Given the description of an element on the screen output the (x, y) to click on. 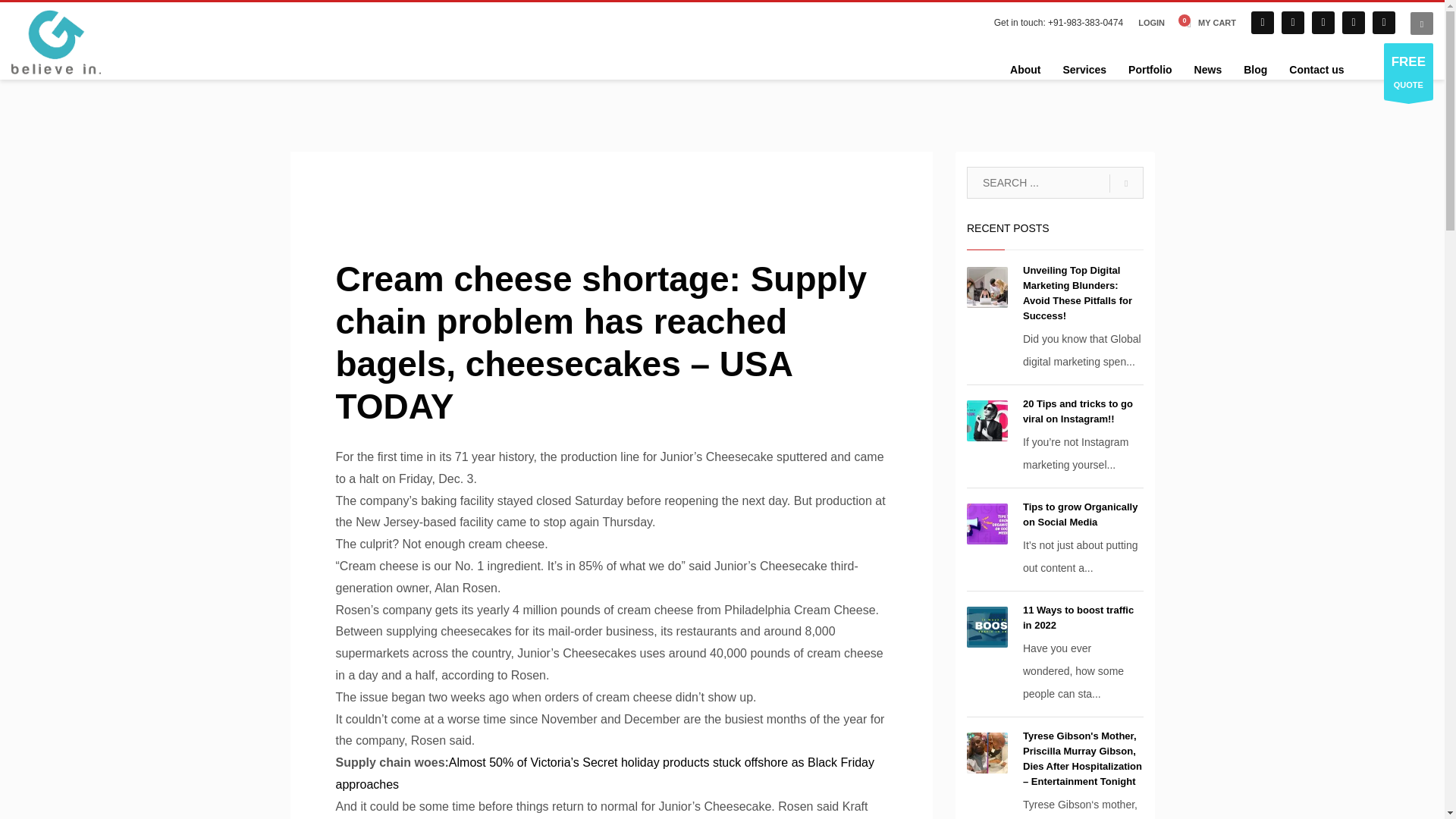
News (1208, 69)
About (1025, 69)
NEWS (523, 178)
LOGIN (1151, 22)
Portfolio (1149, 69)
Blog (1255, 69)
Services (1083, 69)
MY CART (1207, 22)
View your shopping cart (1207, 22)
believe in (55, 41)
Contact us (1315, 69)
facebook (1262, 22)
